Given the description of an element on the screen output the (x, y) to click on. 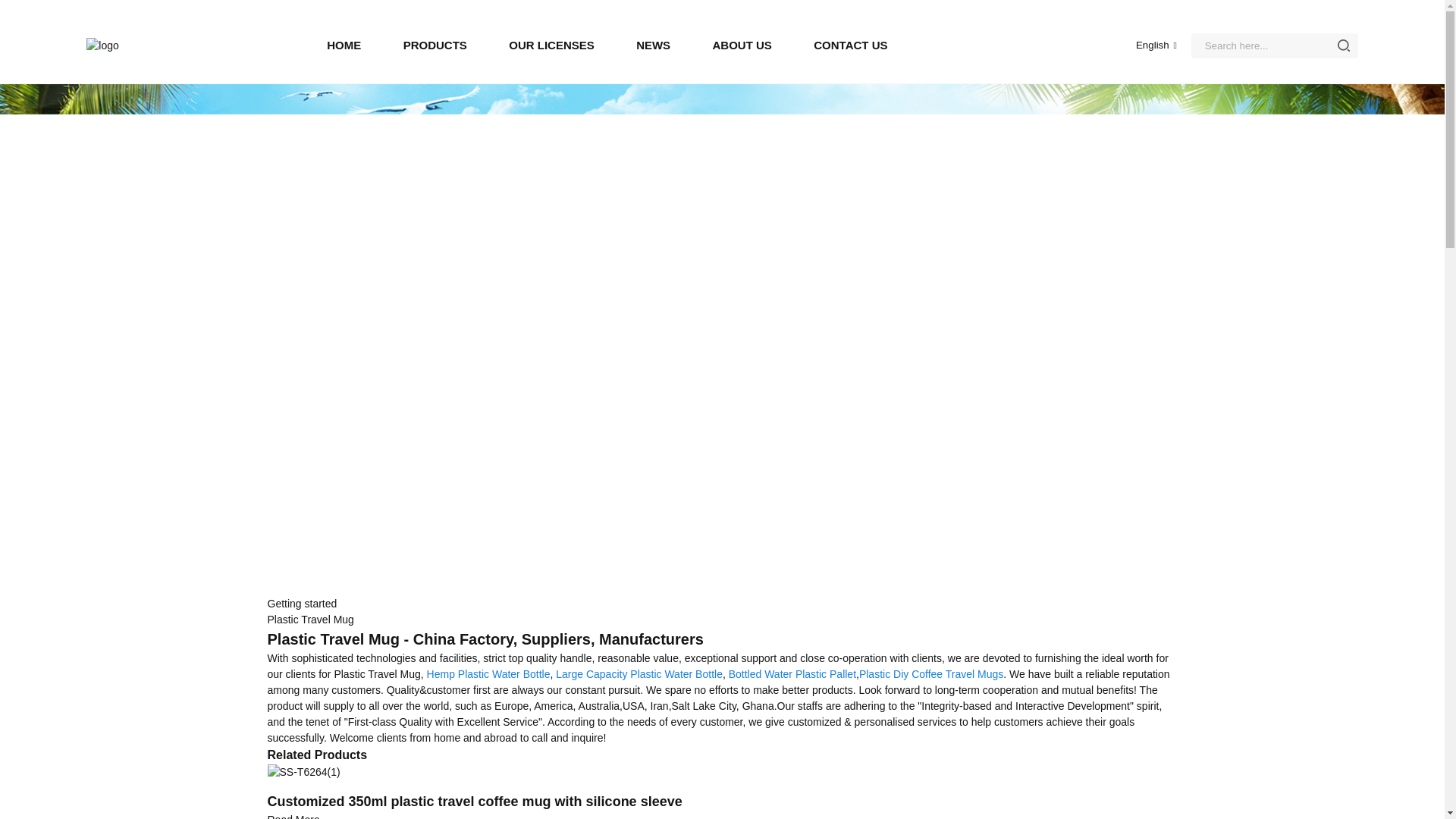
OUR LICENSES (551, 45)
Getting started (301, 603)
Bottled Water Plastic Pallet (792, 674)
Large Capacity Plastic Water Bottle (639, 674)
Hemp Plastic Water Bottle (488, 674)
Large Capacity Plastic Water Bottle (639, 674)
Plastic Diy Coffee Travel Mugs (931, 674)
Plastic Travel Mug (309, 619)
